Given the description of an element on the screen output the (x, y) to click on. 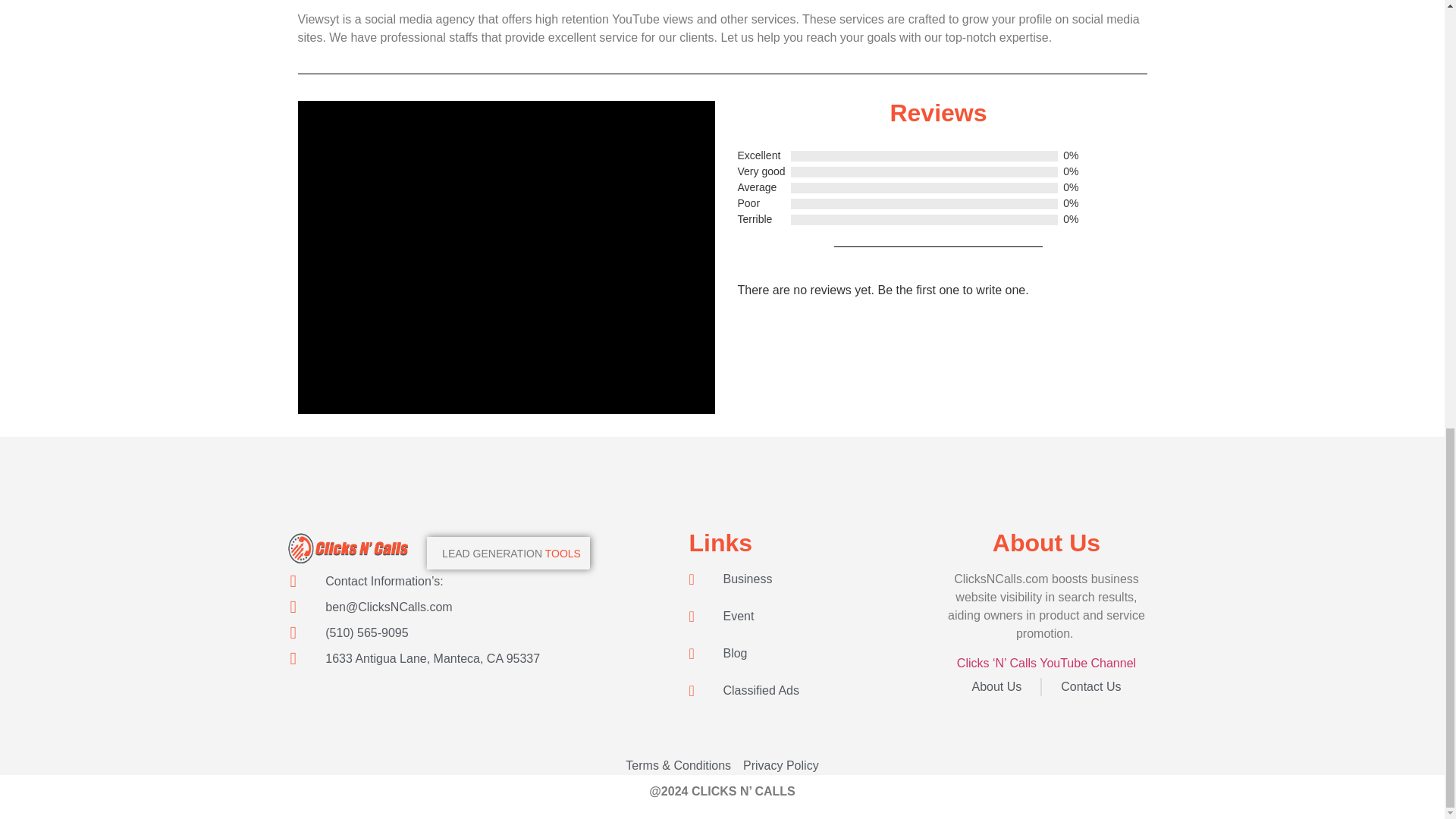
Business (812, 579)
Classified Ads (812, 690)
About Us (996, 687)
Blog (812, 653)
Contact Us (1091, 687)
Event (812, 616)
Privacy Policy (780, 765)
